Given the description of an element on the screen output the (x, y) to click on. 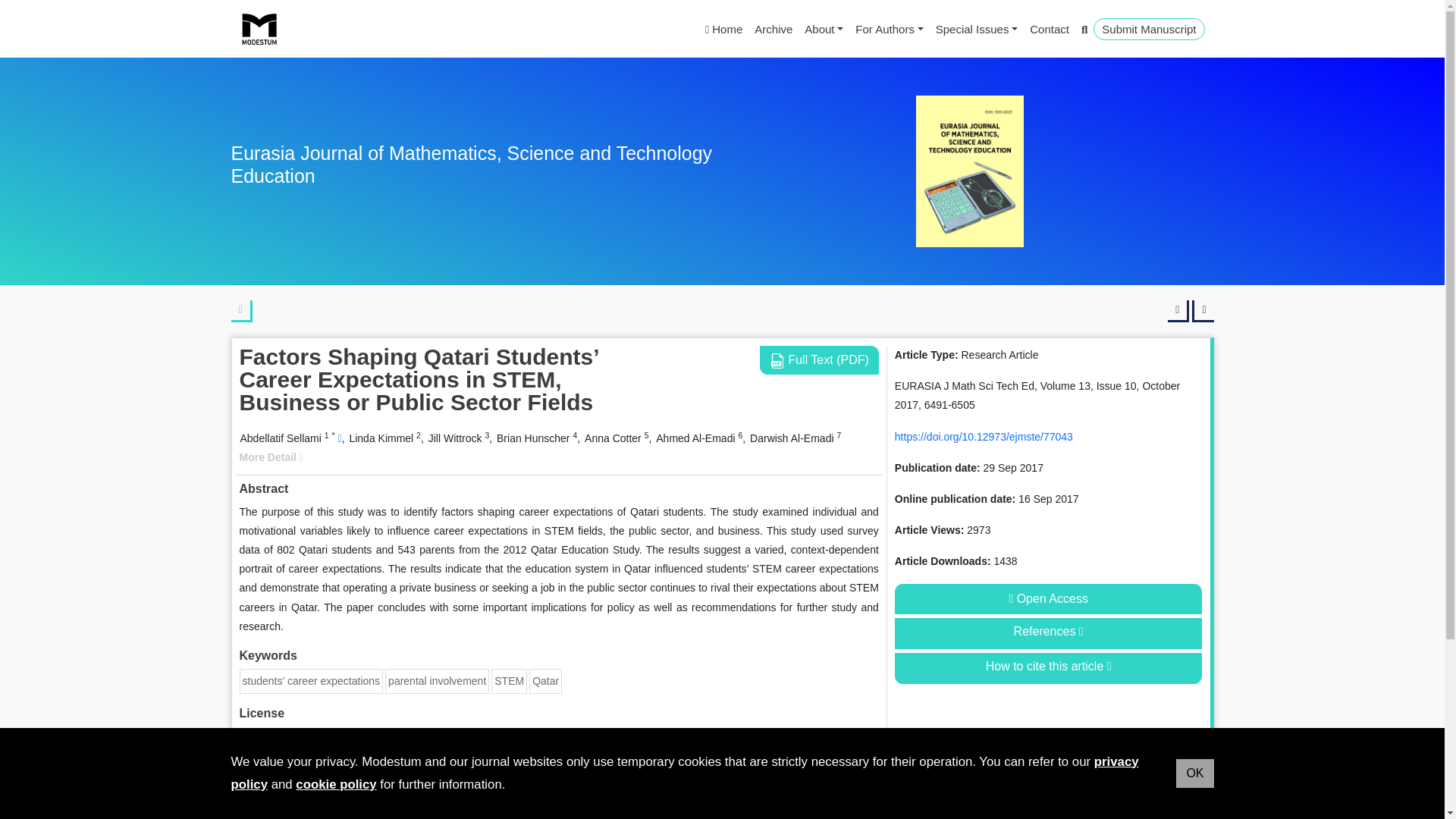
About (822, 28)
Home (723, 28)
Submit Manuscript (1148, 29)
STEM (509, 680)
Special Issues (977, 28)
Previous article (1178, 311)
Archive (772, 28)
parental involvement (437, 680)
Qatar (545, 680)
Next article (1202, 311)
Contact (1049, 28)
For Authors (888, 28)
Back to article list (240, 311)
